Given the description of an element on the screen output the (x, y) to click on. 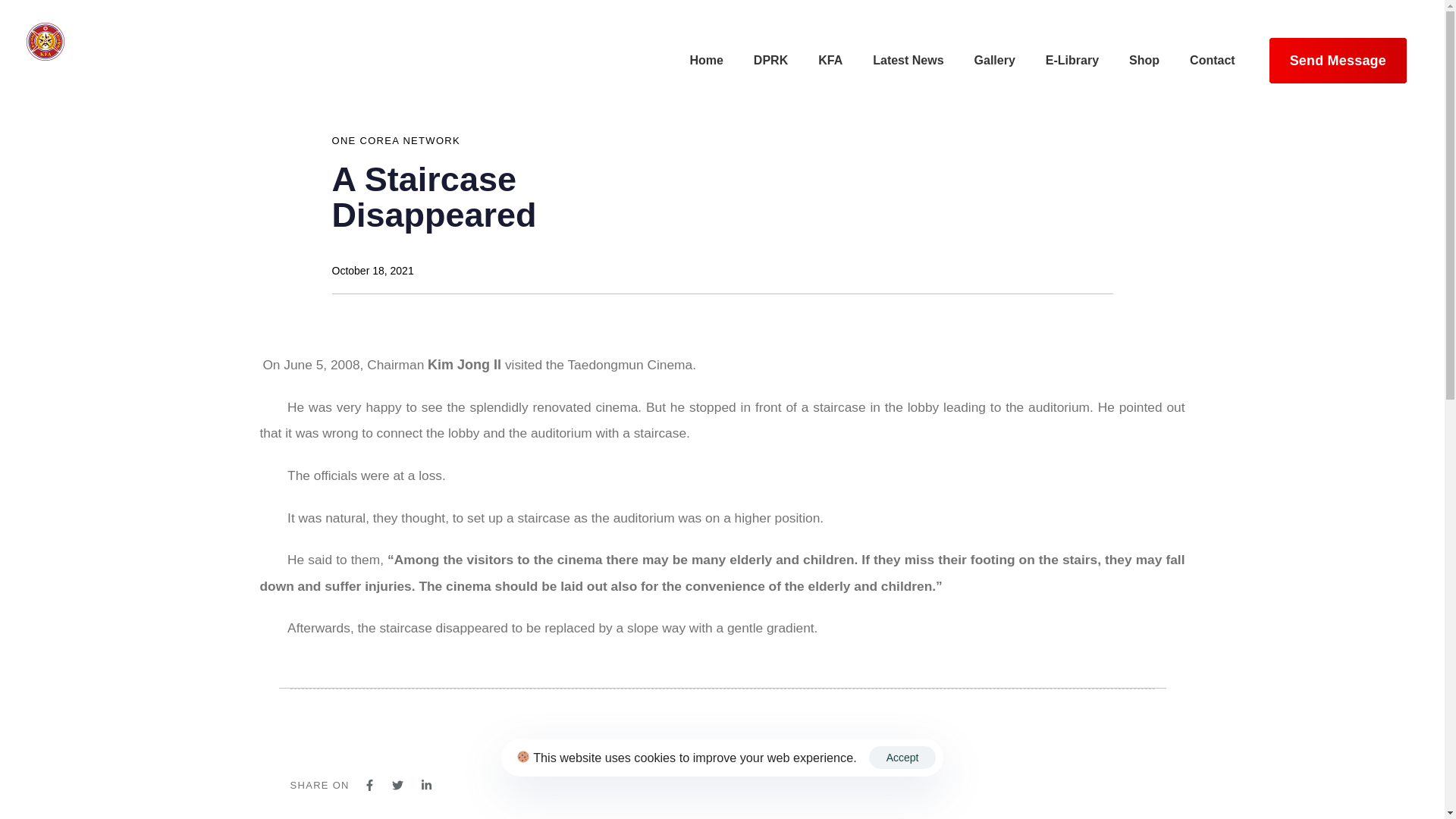
KCNA (642, 514)
Friend (485, 630)
The Rodong Sinmun (482, 570)
DPRK TODAY (642, 571)
Naenara (485, 513)
Voice of Korea (642, 629)
